Given the description of an element on the screen output the (x, y) to click on. 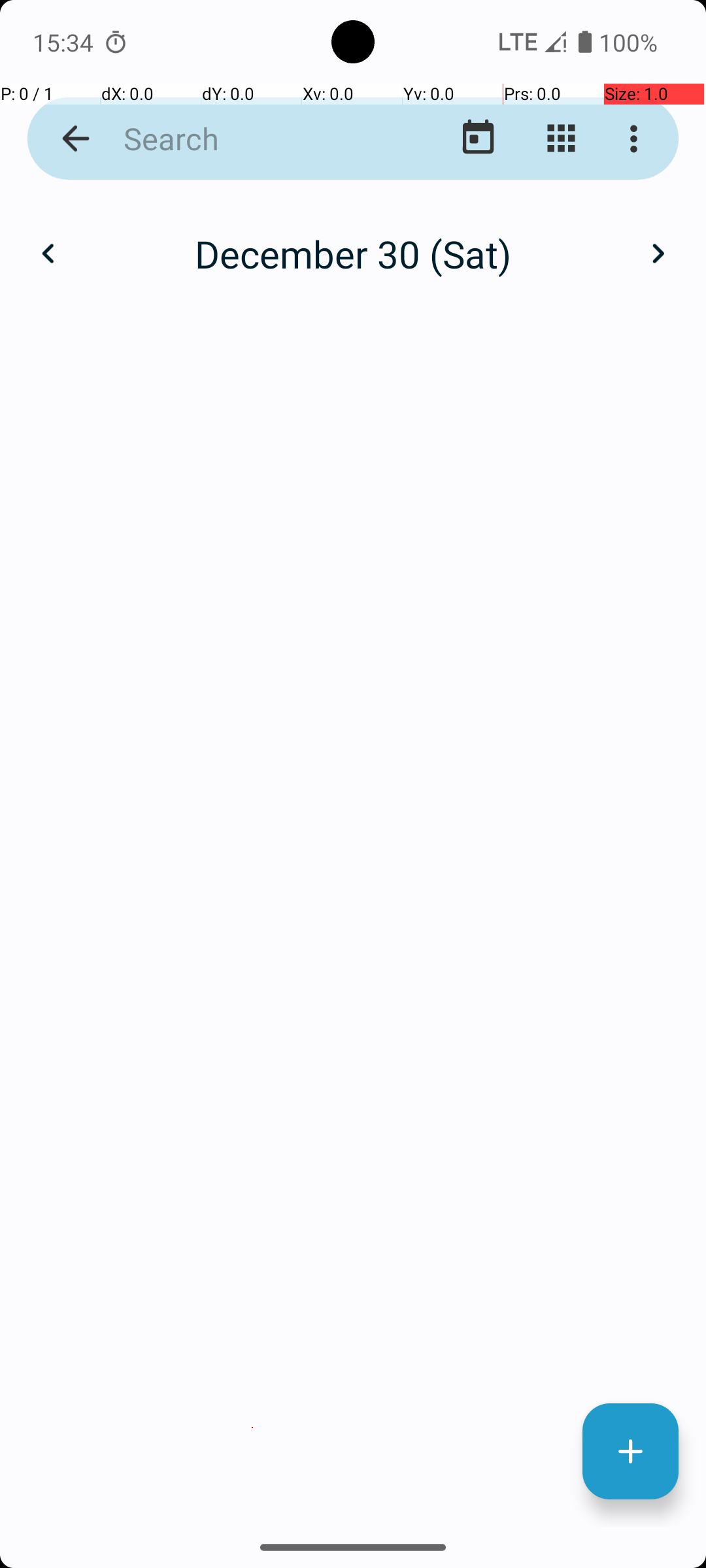
December Element type: android.widget.TextView (352, 239)
December 30 (Sat) Element type: android.widget.TextView (352, 253)
